Given the description of an element on the screen output the (x, y) to click on. 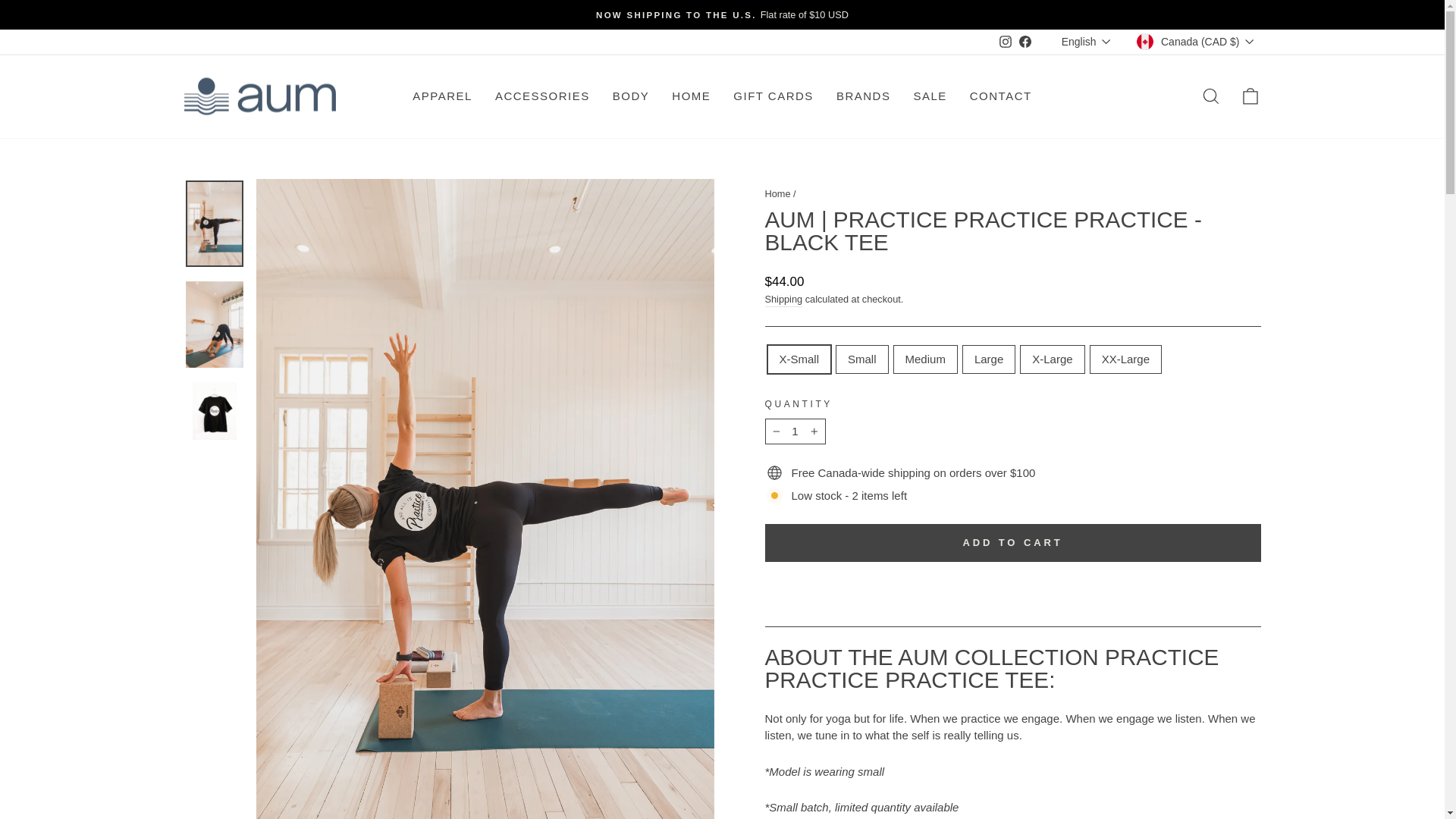
Back to the frontpage (777, 193)
1 (794, 431)
